Given the description of an element on the screen output the (x, y) to click on. 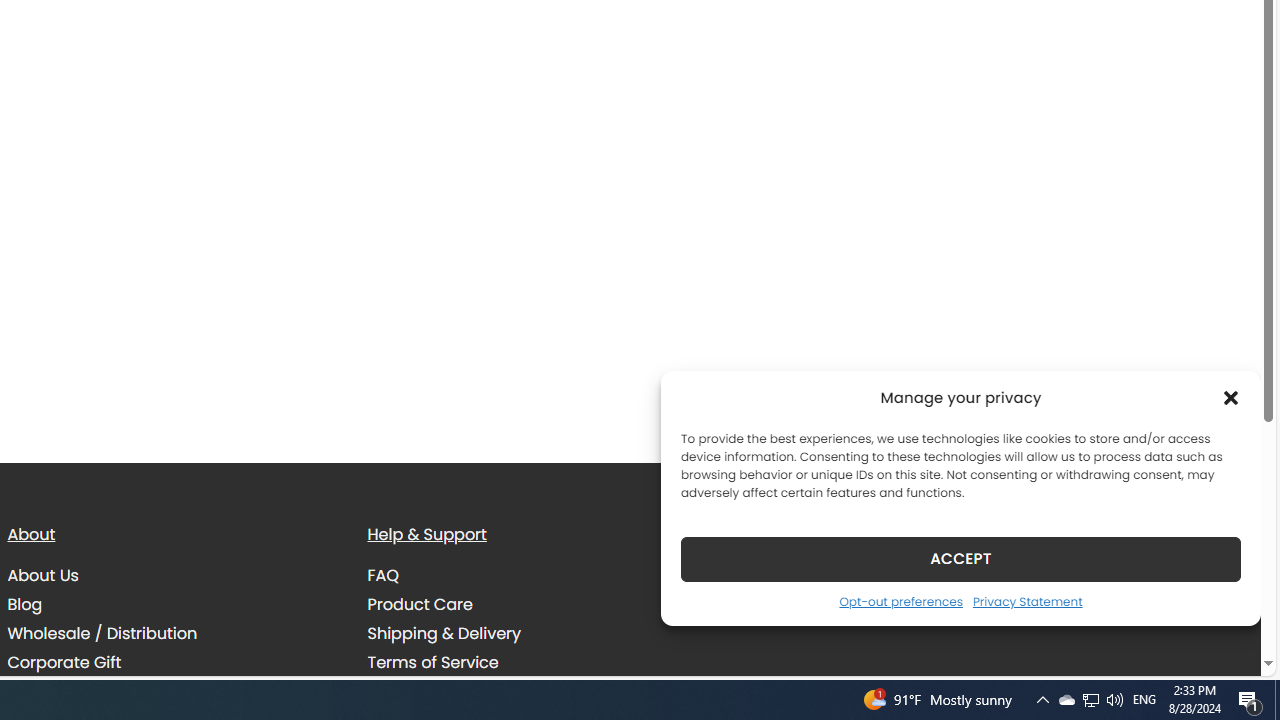
Product Care (420, 605)
FAQ (383, 575)
FAQ (532, 576)
Class: cmplz-close (1231, 397)
Wholesale / Distribution (102, 633)
Go to top (1220, 647)
